Given the description of an element on the screen output the (x, y) to click on. 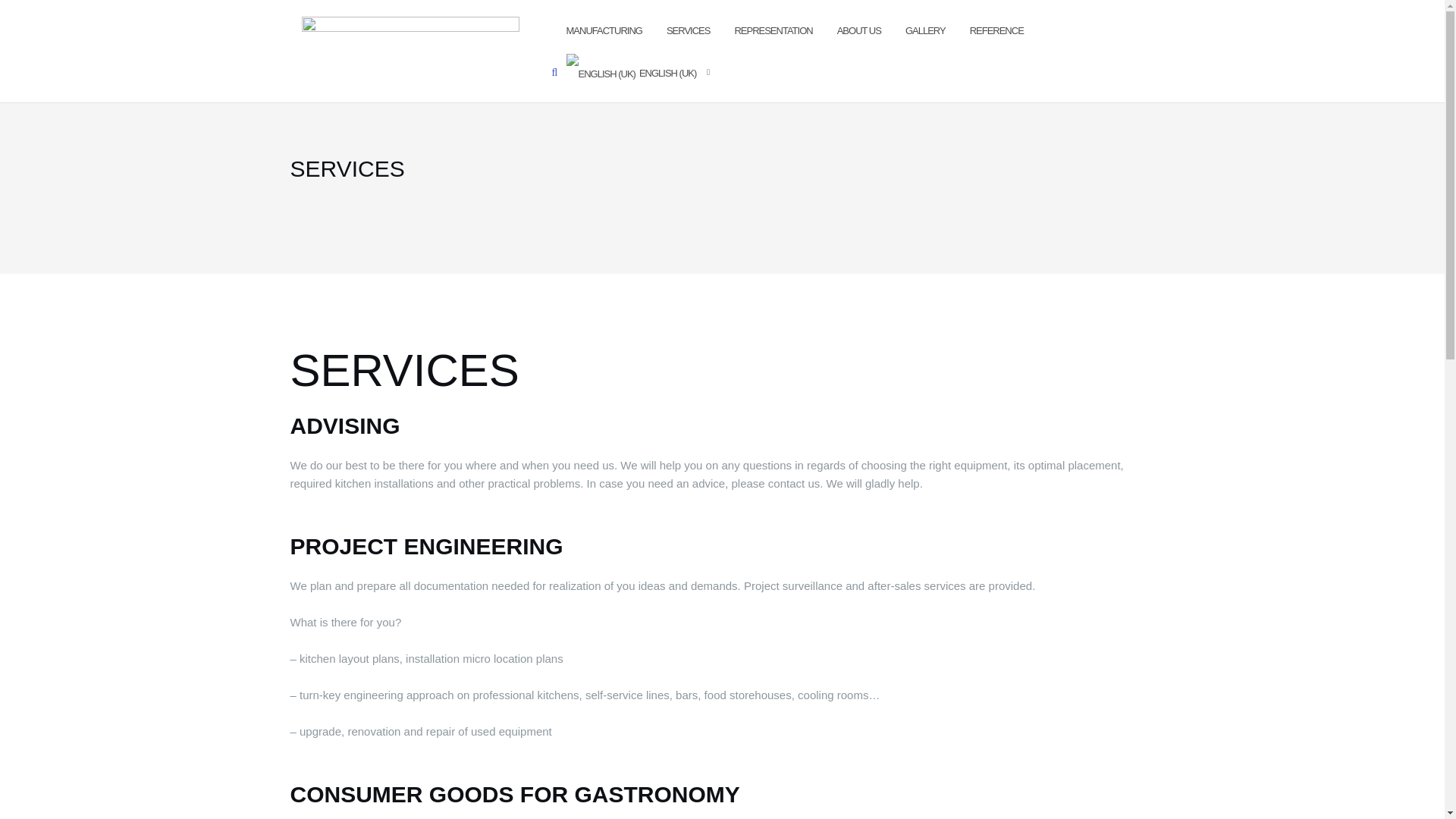
REPRESENTATION (772, 31)
ABOUT US (858, 31)
ABOUT US (858, 31)
Reference (996, 31)
MANUFACTURING (604, 31)
GALLERY (924, 31)
GALLERY (924, 31)
REPRESENTATION (772, 31)
SERVICES (688, 31)
REFERENCE (996, 31)
